Given the description of an element on the screen output the (x, y) to click on. 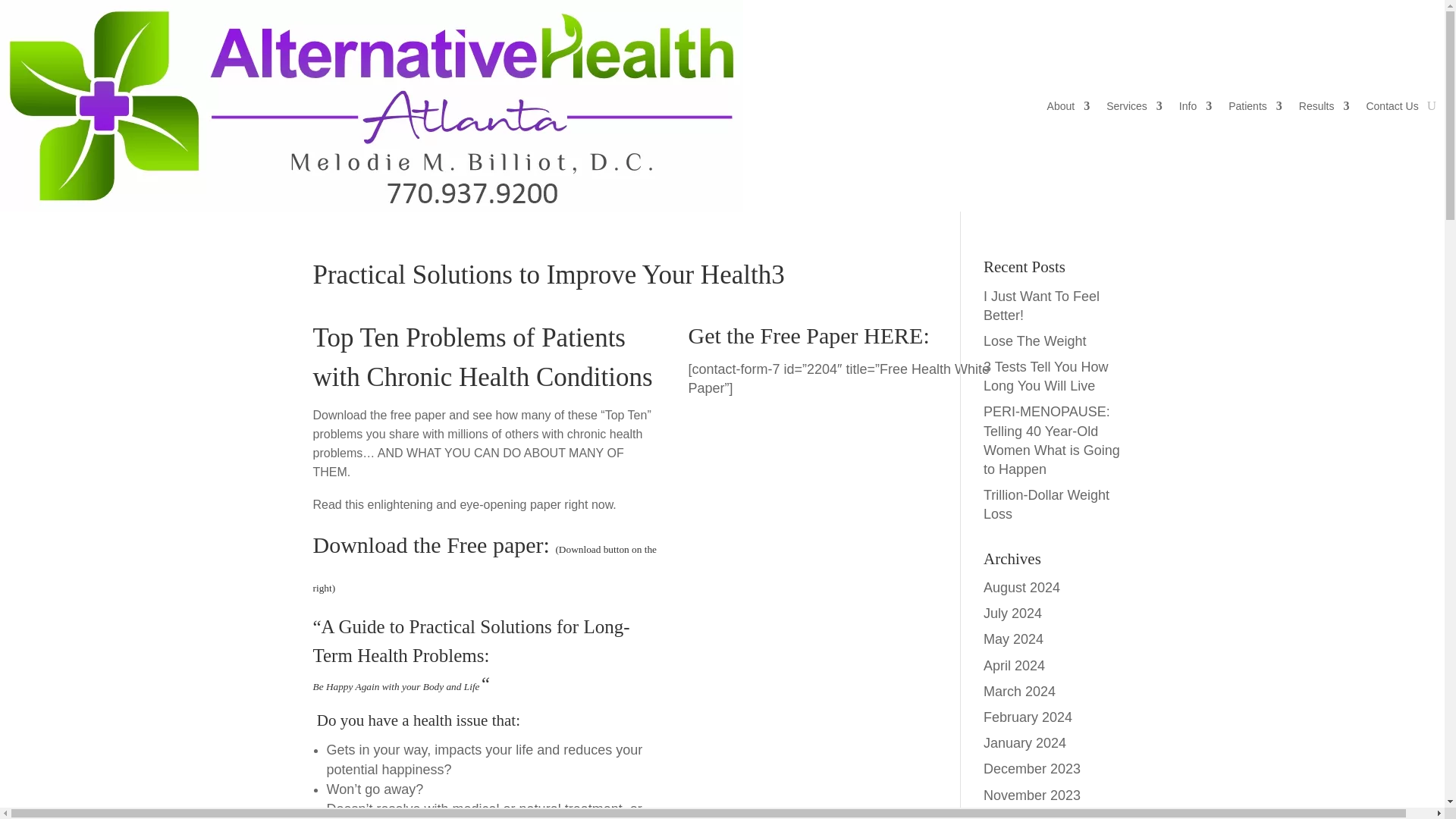
March 2024 (1019, 691)
August 2024 (1021, 587)
January 2024 (1024, 743)
Trillion-Dollar Weight Loss (1046, 504)
February 2024 (1027, 717)
May 2024 (1013, 639)
Lose The Weight (1035, 340)
April 2024 (1014, 665)
3 Tests Tell You How Long You Will Live (1046, 376)
July 2024 (1013, 613)
